Given the description of an element on the screen output the (x, y) to click on. 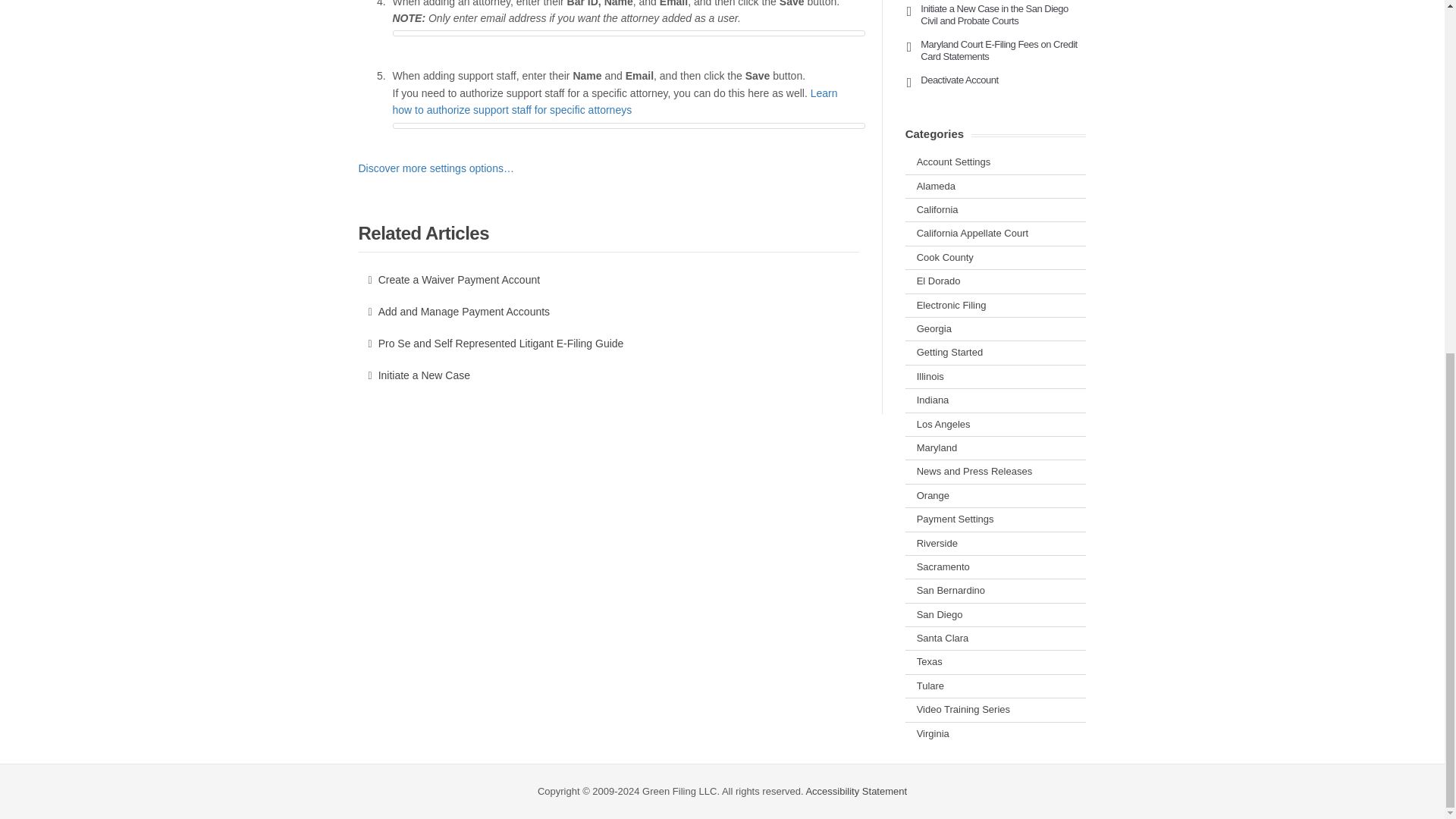
Maryland Court E-Filing Fees on Credit Card Statements (998, 50)
El Dorado (938, 280)
Indiana (933, 399)
Initiate a New Case (608, 375)
California Appellate Court (972, 233)
Create a Waiver Payment Account (608, 279)
Georgia (934, 328)
Add and Manage Payment Accounts (608, 311)
Deactivate Account (958, 79)
